Given the description of an element on the screen output the (x, y) to click on. 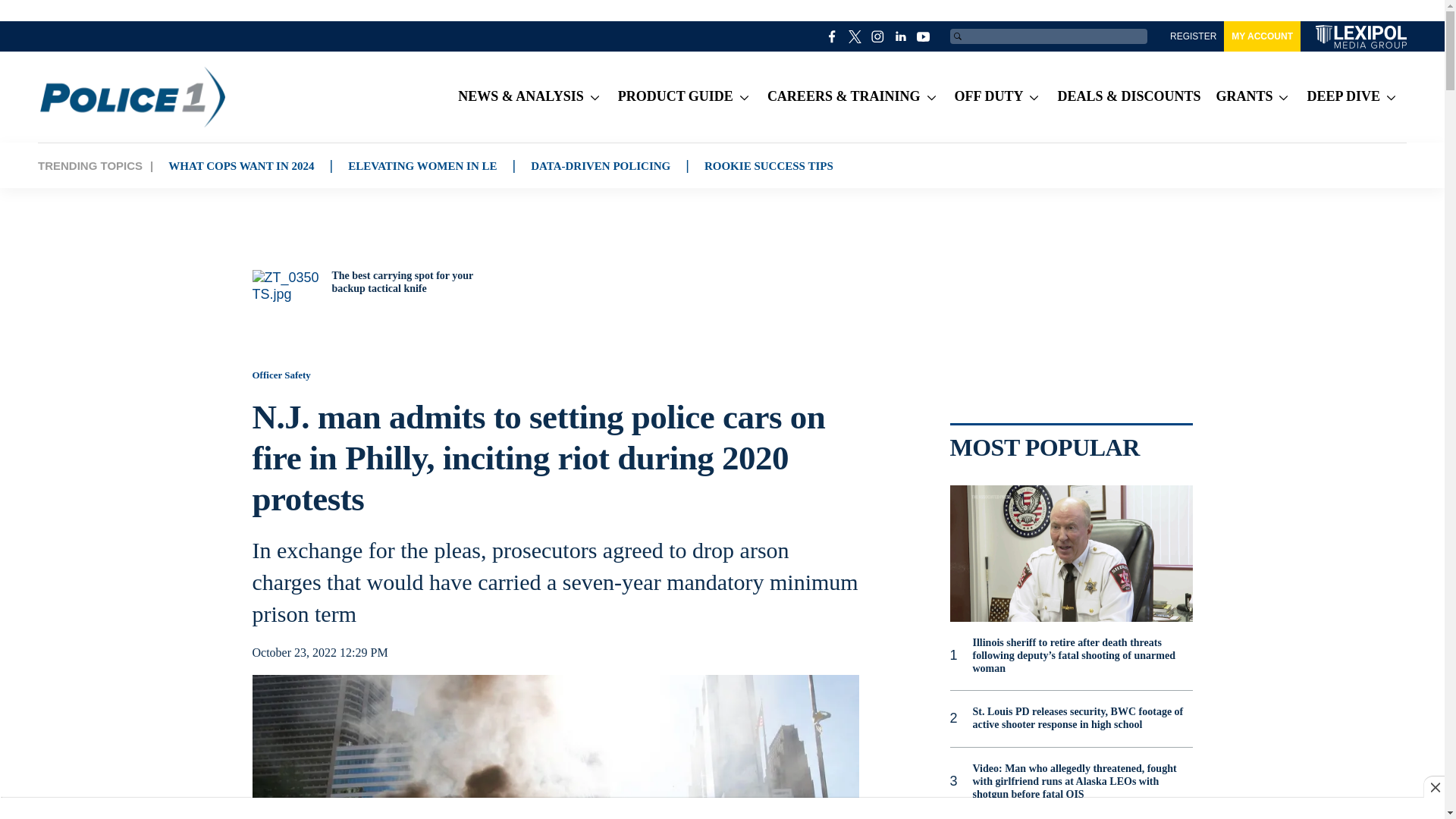
twitter (855, 36)
facebook (832, 36)
youtube (923, 36)
MY ACCOUNT (1262, 36)
instagram (877, 36)
linkedin (900, 36)
REGISTER (1192, 36)
